Given the description of an element on the screen output the (x, y) to click on. 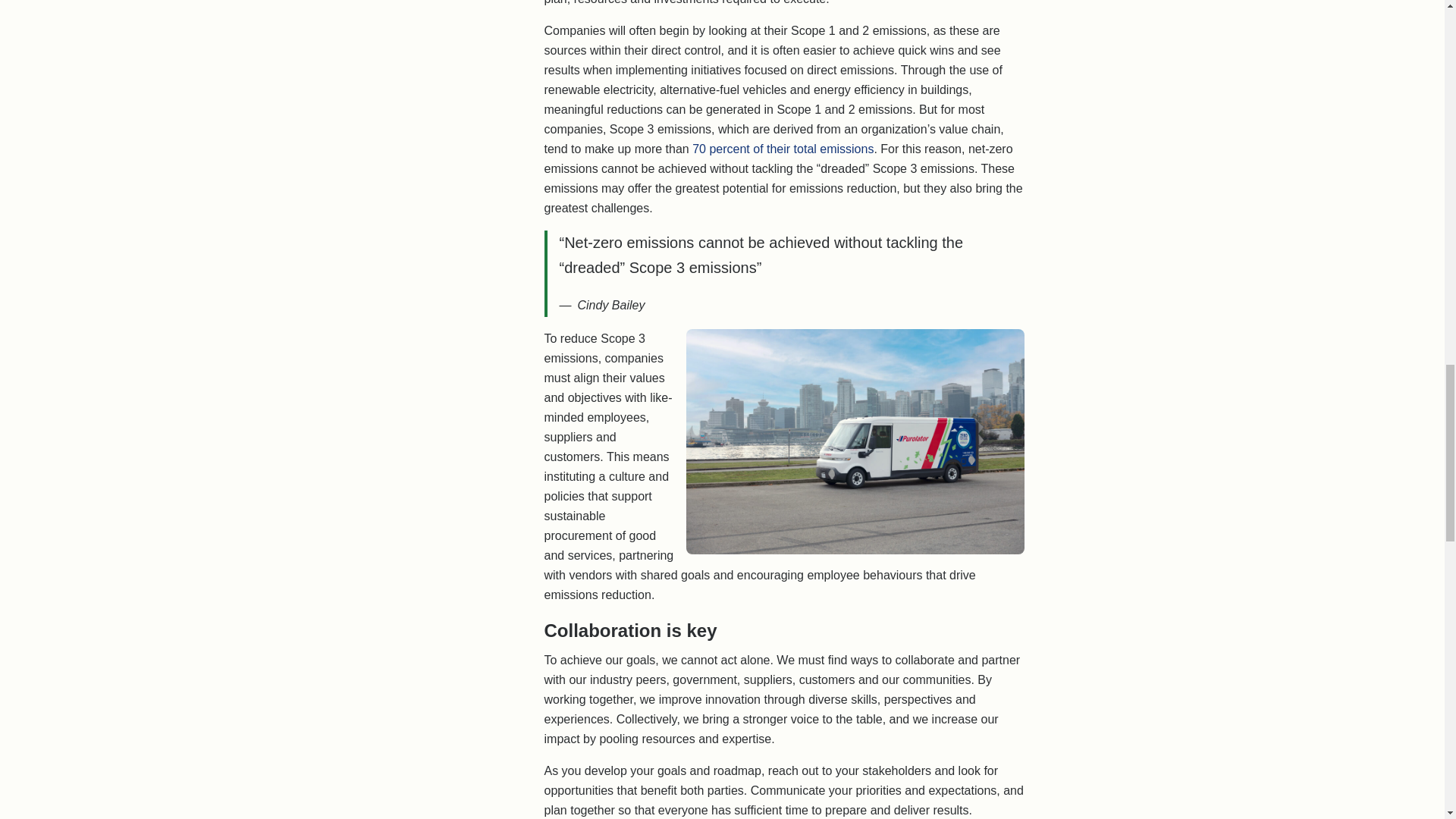
70 percent of their total emissions (783, 148)
